Given the description of an element on the screen output the (x, y) to click on. 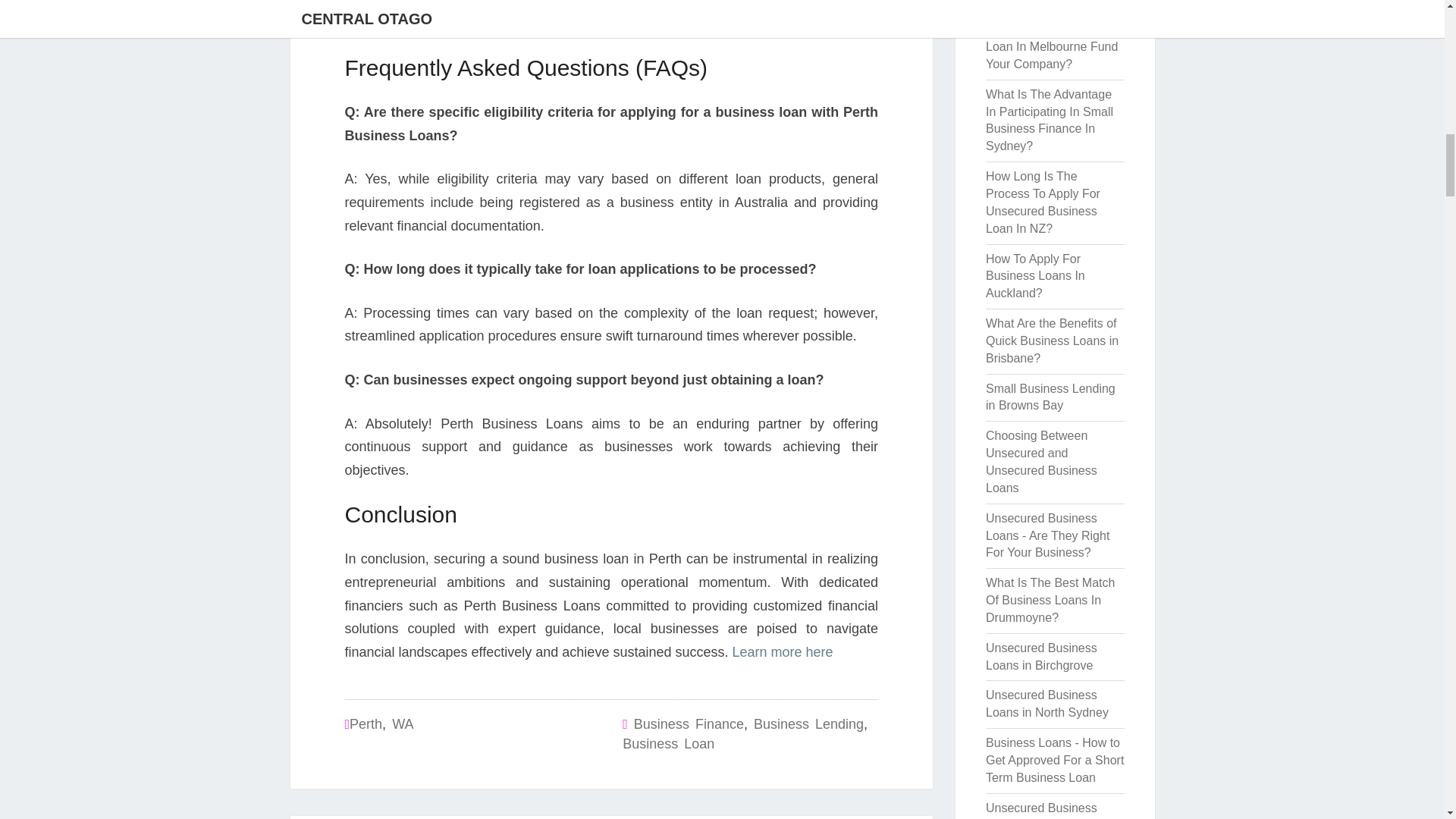
Business Finance (688, 724)
Business Loan (668, 743)
Learn more here (782, 652)
Perth (365, 724)
Business Lending (808, 724)
WA (402, 724)
